Given the description of an element on the screen output the (x, y) to click on. 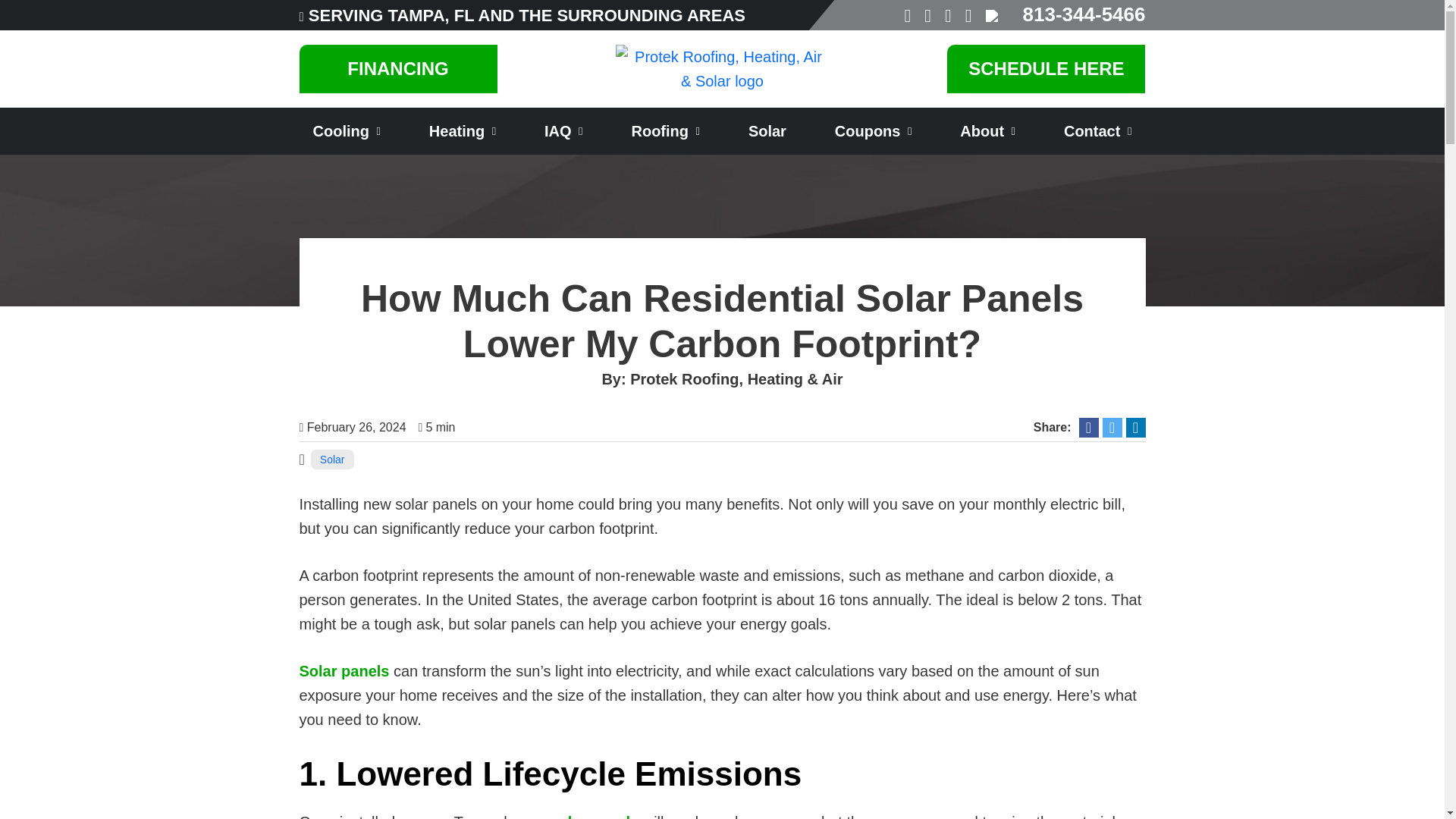
Roofing (665, 130)
Heating (461, 130)
SCHEDULE HERE (1045, 69)
813-344-5466 (1084, 14)
IAQ (563, 130)
FINANCING (397, 69)
SERVING TAMPA, FL AND THE SURROUNDING AREAS (526, 15)
Cooling (346, 130)
